Given the description of an element on the screen output the (x, y) to click on. 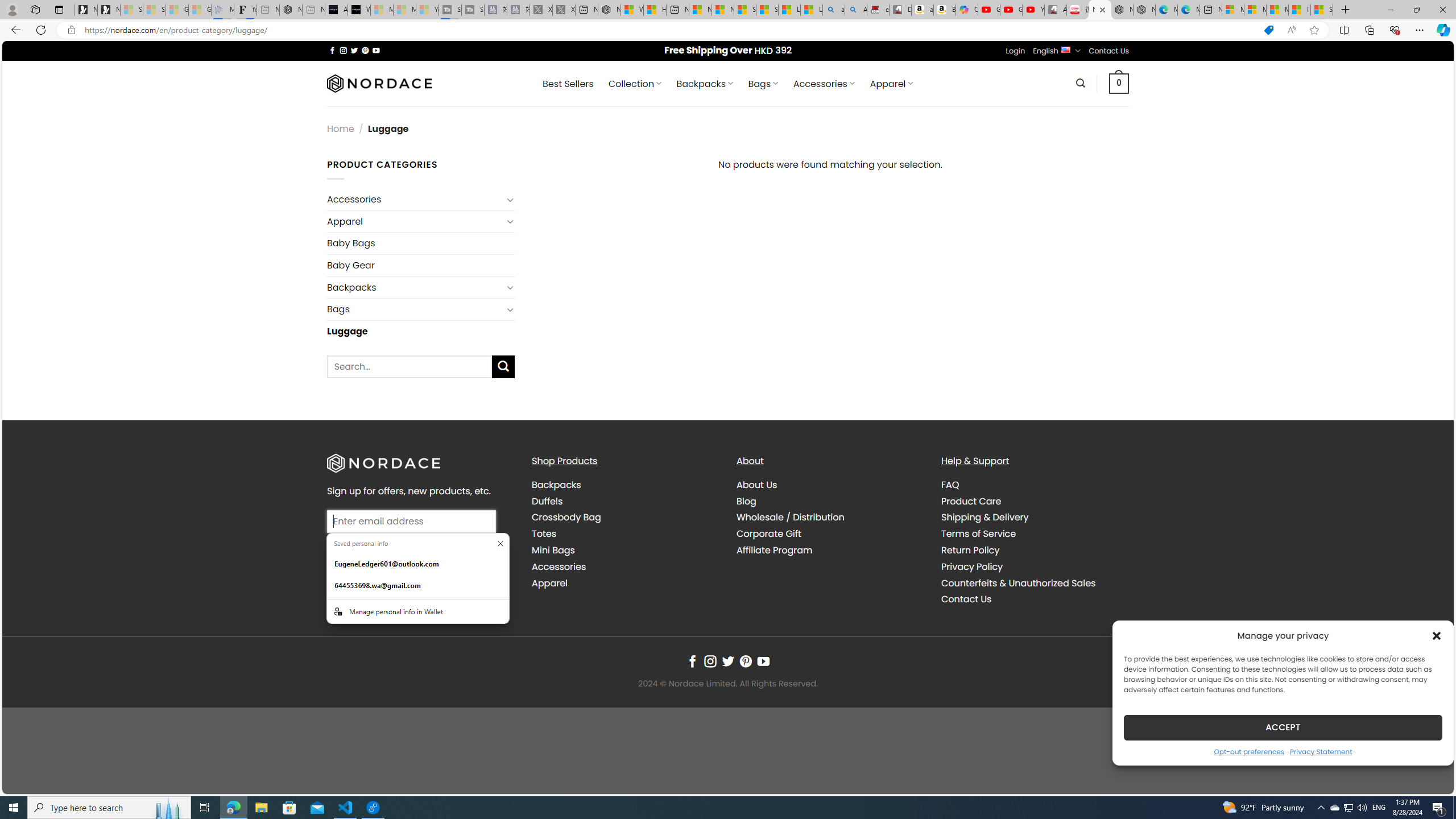
Corporate Gift (830, 533)
 0  (1118, 83)
Minimize (1390, 9)
Restore (1416, 9)
Nordace - My Account (609, 9)
Search (1079, 83)
This site has coupons! Shopping in Microsoft Edge (1268, 29)
Baby Bags (421, 242)
ACCEPT (1283, 727)
New Tab (1346, 9)
